Given the description of an element on the screen output the (x, y) to click on. 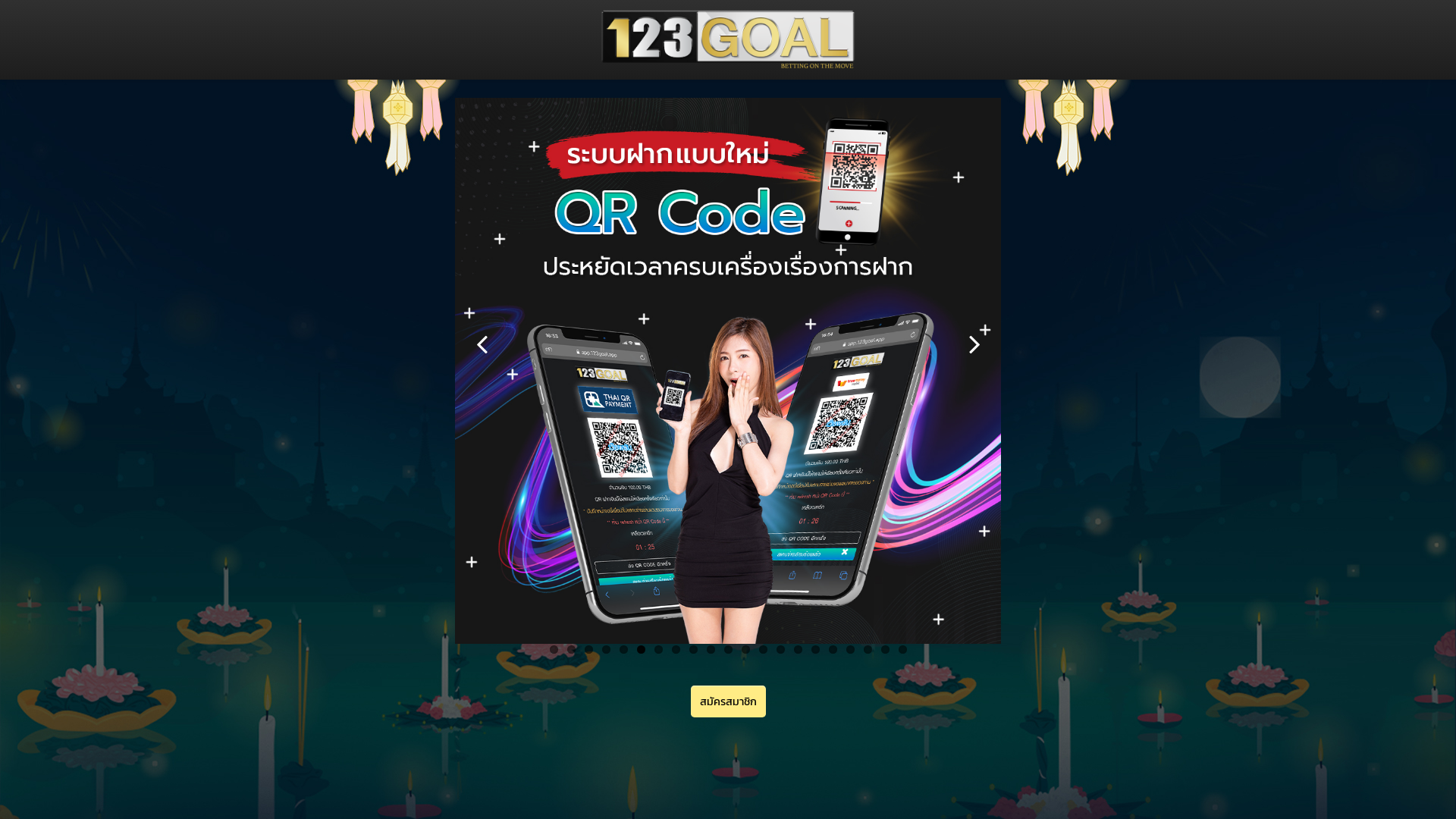
3 Element type: text (587, 649)
9 Element type: text (692, 649)
10 Element type: text (710, 649)
Previous Element type: text (481, 343)
13 Element type: text (762, 649)
21 Element type: text (901, 649)
20 Element type: text (885, 649)
16 Element type: text (815, 649)
12 Element type: text (745, 649)
11 Element type: text (727, 649)
5 Element type: text (622, 649)
14 Element type: text (780, 649)
17 Element type: text (832, 649)
6 Element type: text (641, 649)
18 Element type: text (850, 649)
19 Element type: text (866, 649)
4 Element type: text (606, 649)
2 Element type: text (571, 649)
1 Element type: text (553, 649)
Next Element type: text (974, 343)
8 Element type: text (675, 649)
15 Element type: text (797, 649)
7 Element type: text (657, 649)
